Given the description of an element on the screen output the (x, y) to click on. 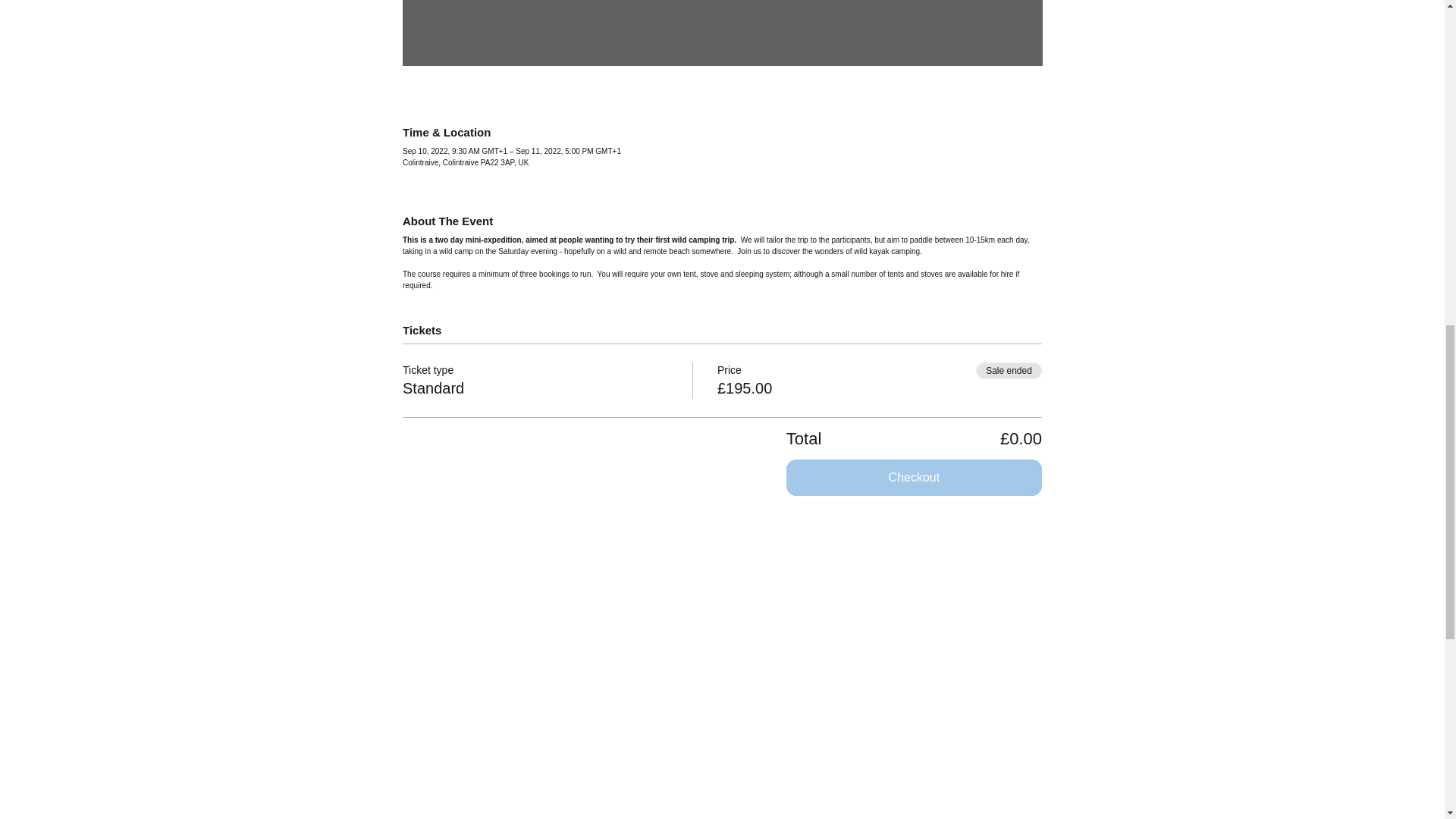
Checkout (914, 477)
